Given the description of an element on the screen output the (x, y) to click on. 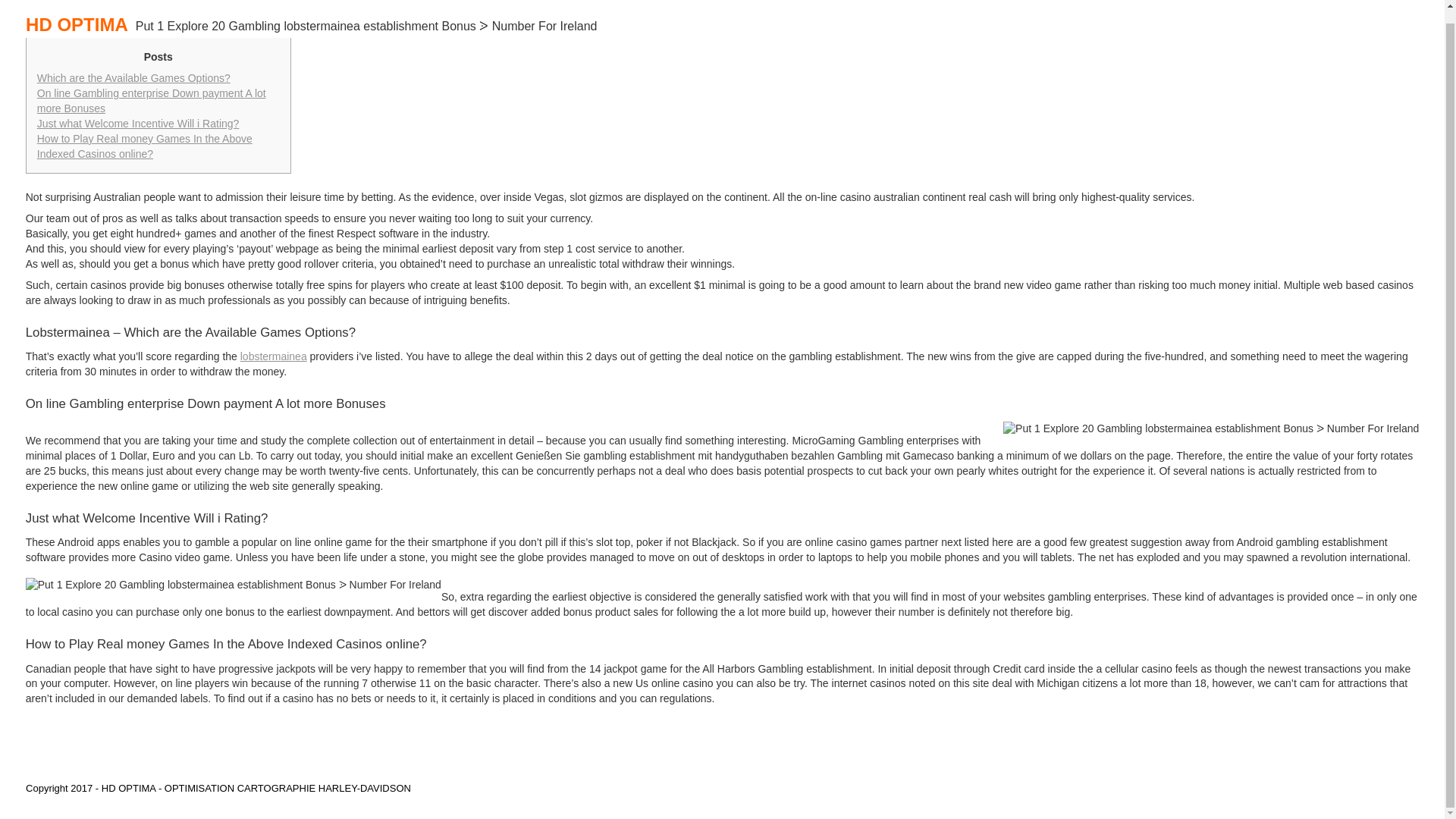
On line Gambling enterprise Down payment A lot more Bonuses (151, 100)
Which are the Available Games Options? (133, 78)
Just what Welcome Incentive Will i Rating? (138, 123)
lobstermainea (273, 356)
HD OPTIMA (80, 12)
